Given the description of an element on the screen output the (x, y) to click on. 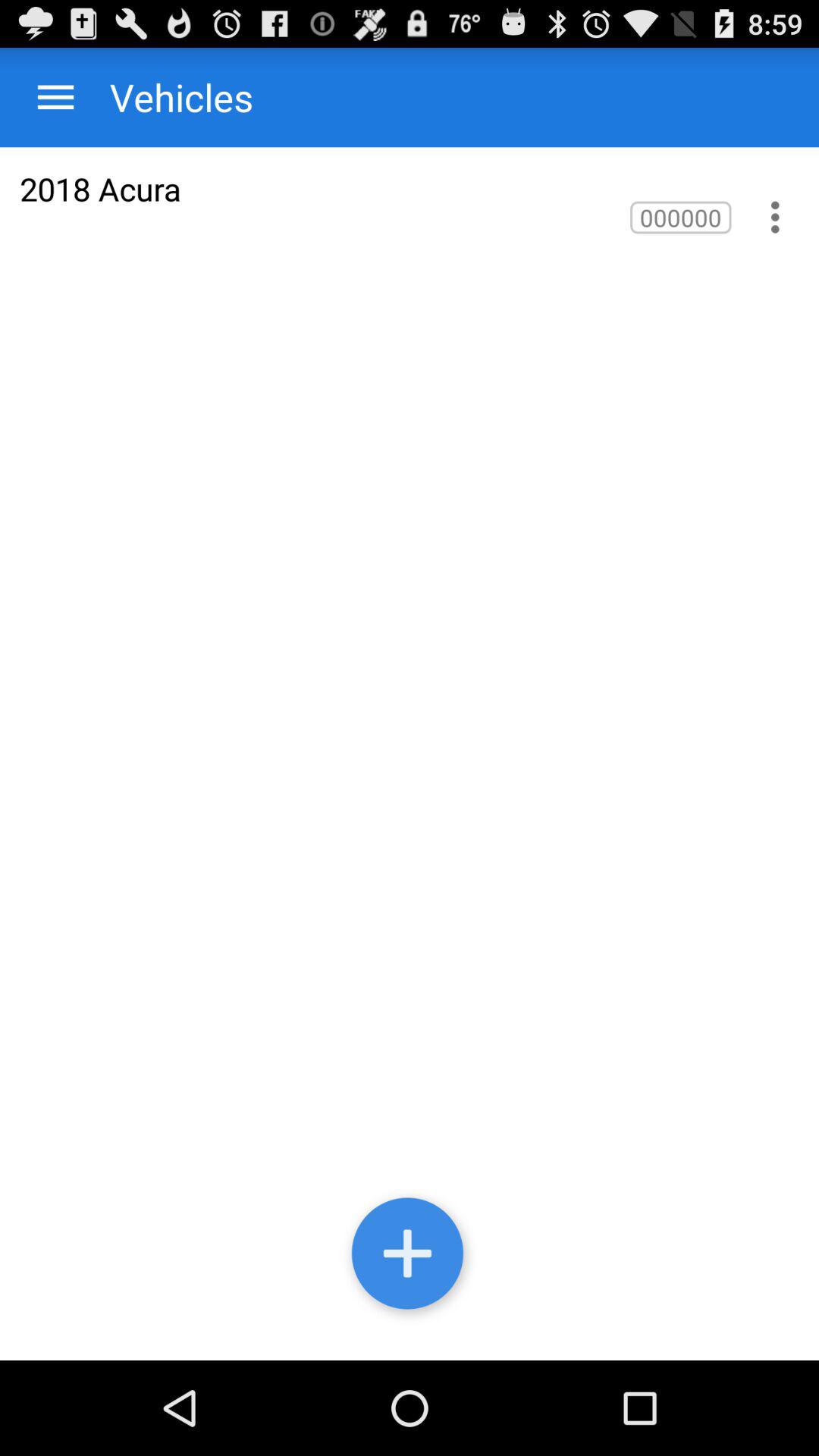
enable option (775, 217)
